Given the description of an element on the screen output the (x, y) to click on. 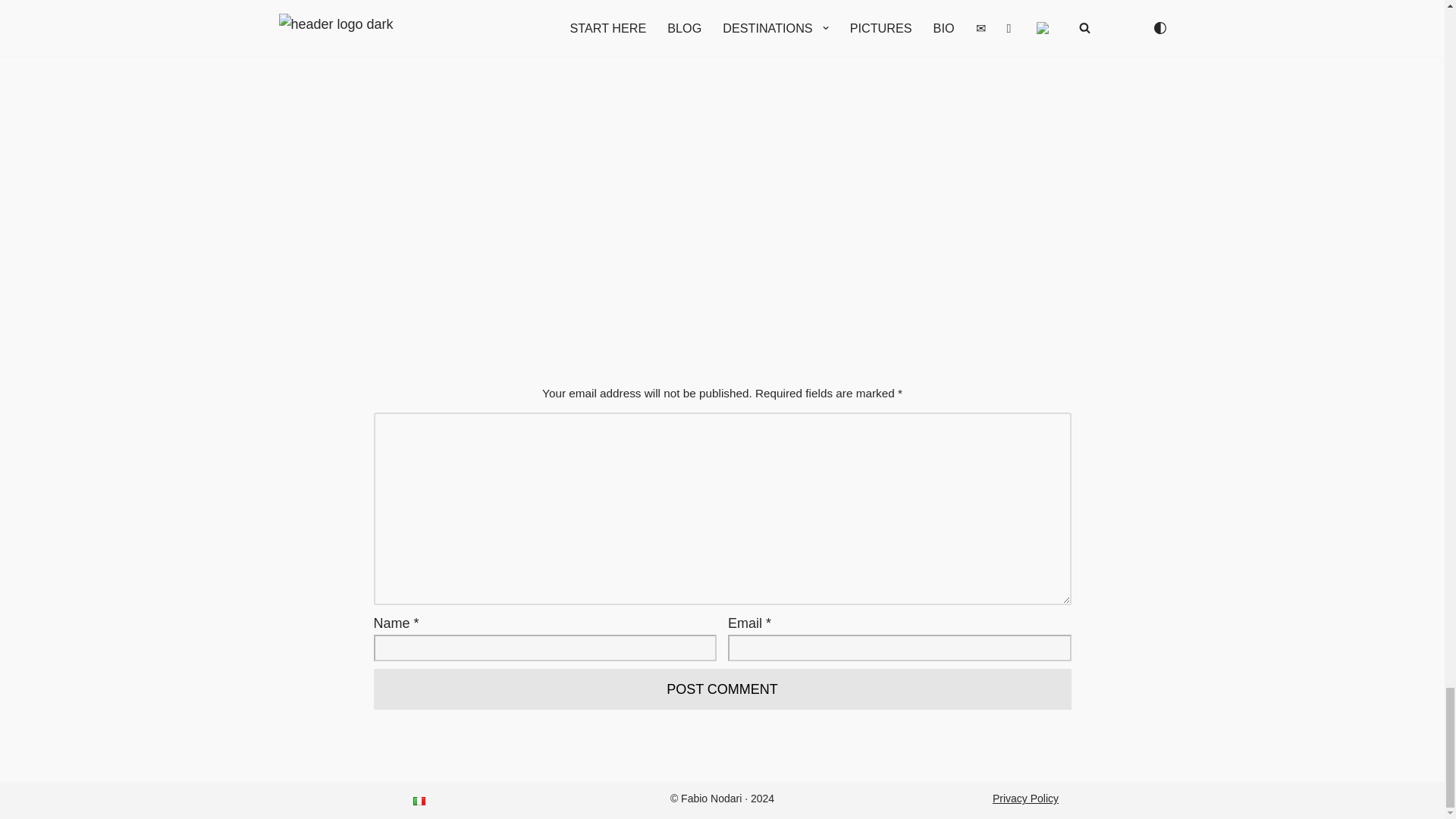
Post Comment (721, 689)
